Given the description of an element on the screen output the (x, y) to click on. 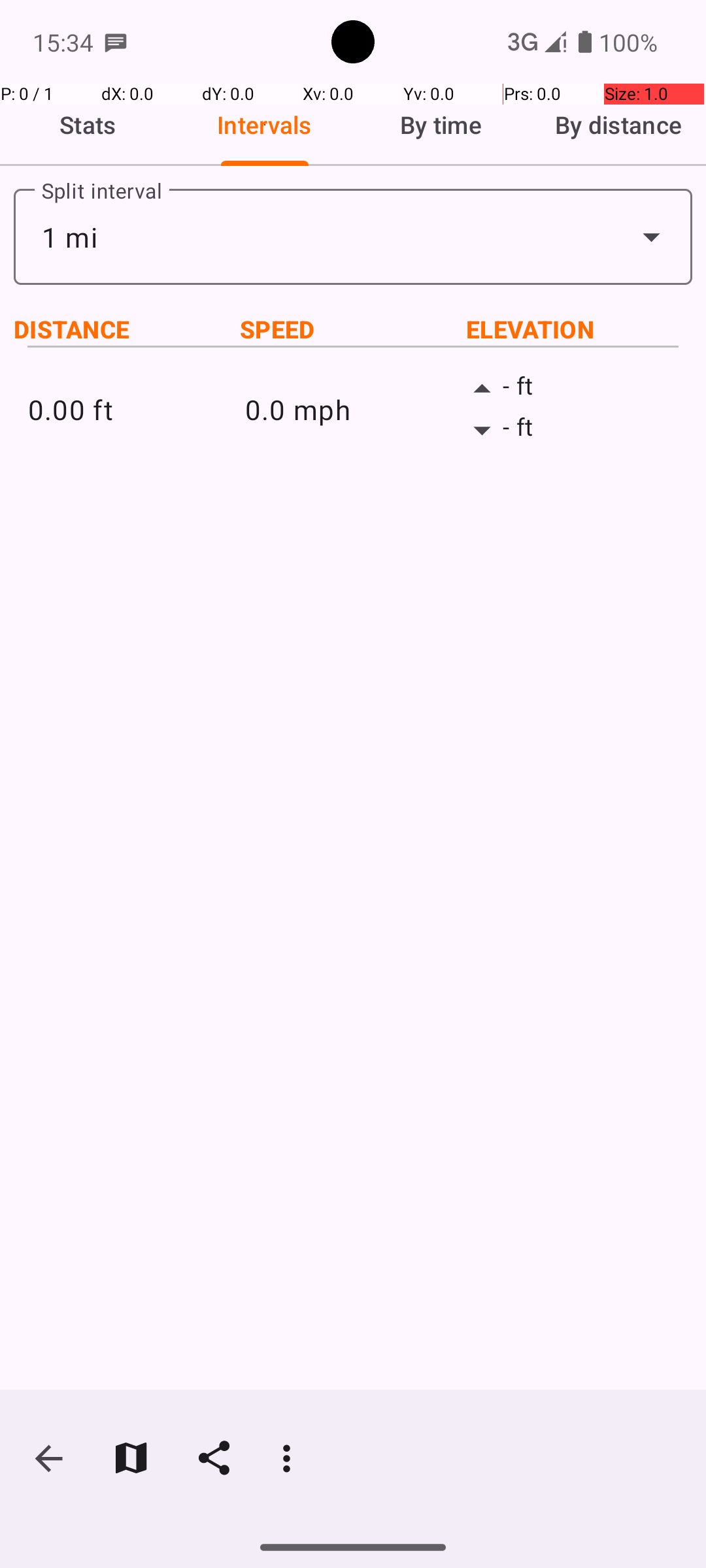
1 mi Element type: android.widget.Spinner (352, 236)
SPEED Element type: android.widget.TextView (352, 328)
ELEVATION Element type: android.widget.TextView (579, 328)
0.00 ft Element type: android.widget.TextView (135, 408)
0.0 mph Element type: android.widget.TextView (352, 408)
- ft Element type: android.widget.TextView (569, 388)
